Given the description of an element on the screen output the (x, y) to click on. 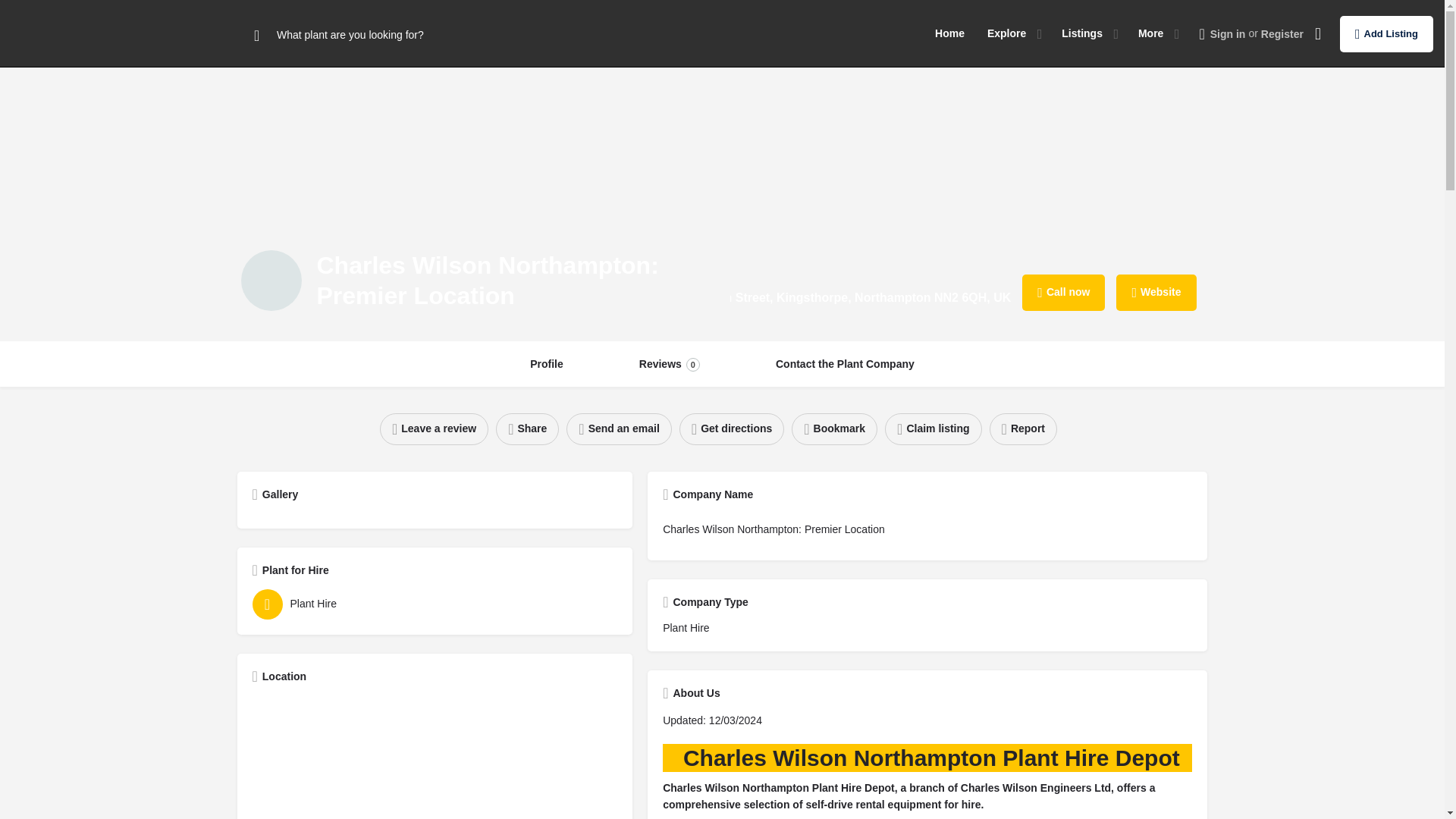
Website (1155, 292)
Sign in (1227, 33)
Home (948, 32)
Register (1281, 33)
Profile (669, 364)
Add Listing (546, 364)
Contact the Plant Company (1385, 33)
Explore (845, 364)
Call now (1006, 32)
More (1063, 292)
Charles Wilson Northampton300 (1150, 32)
Listings (271, 280)
